Given the description of an element on the screen output the (x, y) to click on. 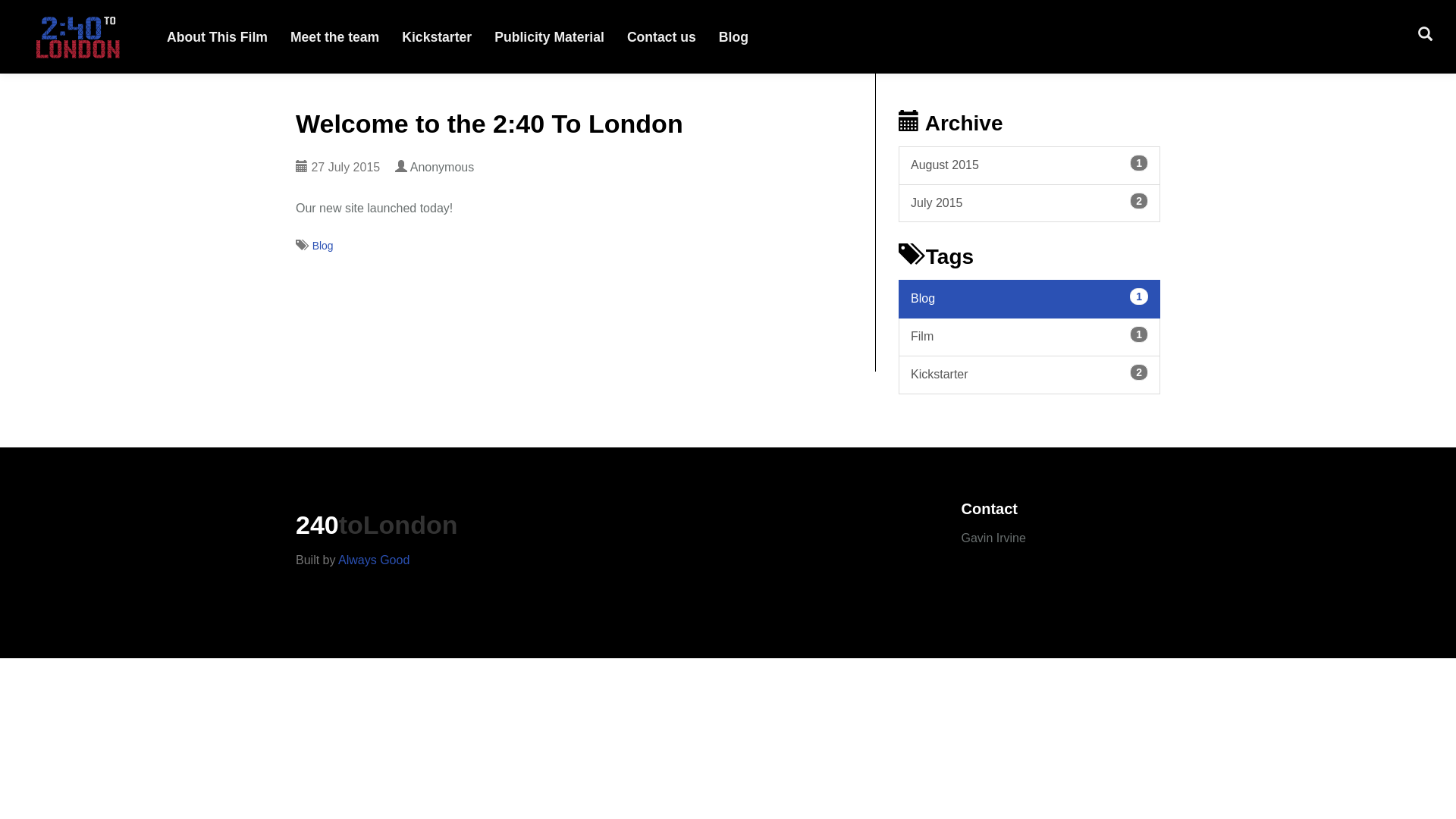
LinkedIn Element type: hover (995, 593)
240 to London Element type: hover (77, 36)
Contact us Element type: text (661, 36)
Blog Element type: text (733, 36)
Phone Element type: hover (972, 593)
Welcome to the 2:40 To London Element type: text (489, 123)
Facebook Element type: hover (987, 593)
Blog Element type: text (322, 245)
Kickstarter Element type: text (436, 36)
E-mail Element type: hover (980, 593)
Mobile Element type: hover (965, 593)
Blog
1 Element type: text (1029, 298)
Film
1 Element type: text (1029, 336)
August 2015
1 Element type: text (1029, 165)
Always Good Element type: text (373, 559)
Kickstarter
2 Element type: text (1029, 374)
July 2015
2 Element type: text (1029, 203)
Meet the team Element type: text (334, 36)
Publicity Material Element type: text (549, 36)
About This Film Element type: text (217, 36)
